Given the description of an element on the screen output the (x, y) to click on. 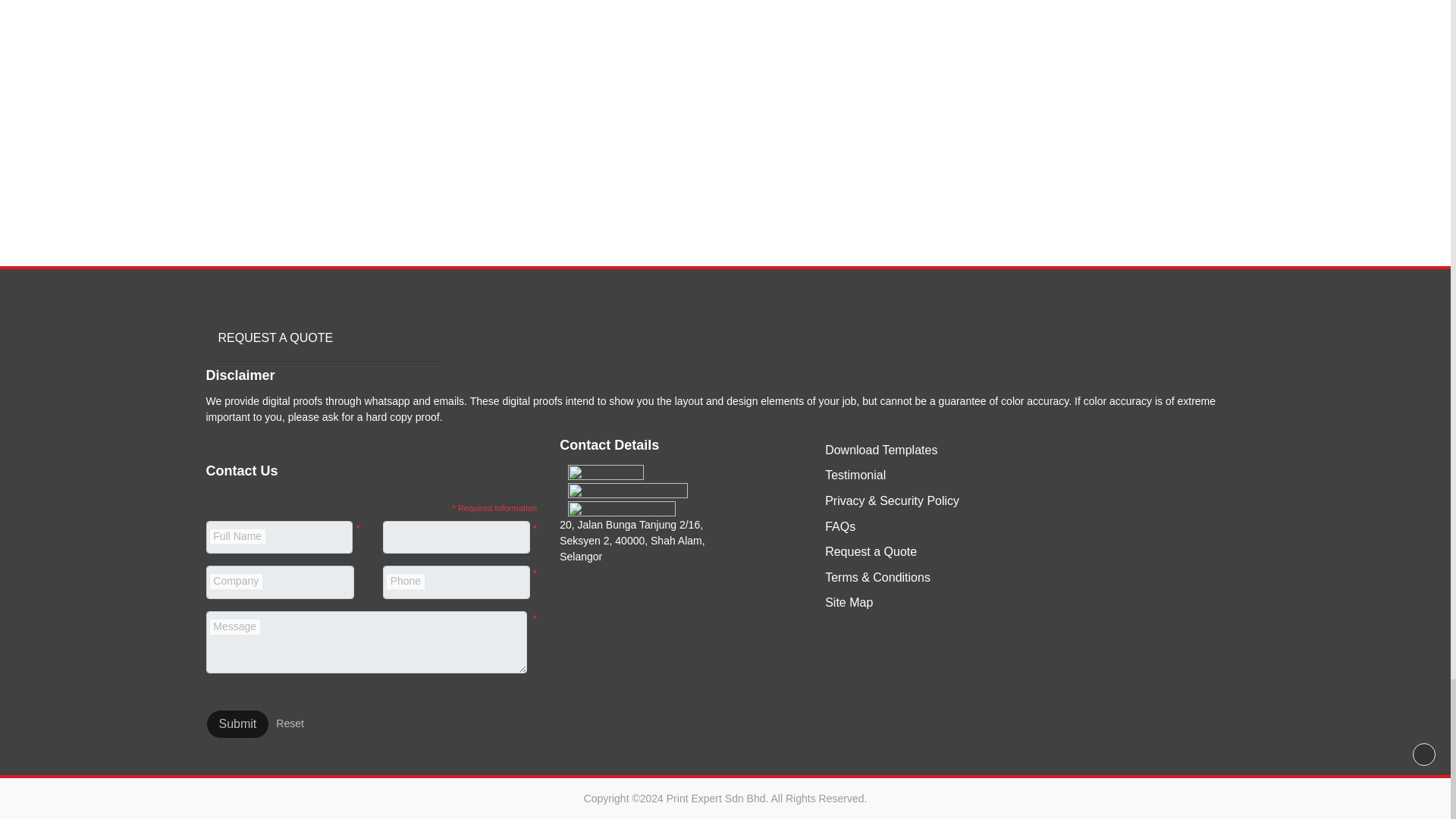
REQUEST A QUOTE (272, 336)
